Given the description of an element on the screen output the (x, y) to click on. 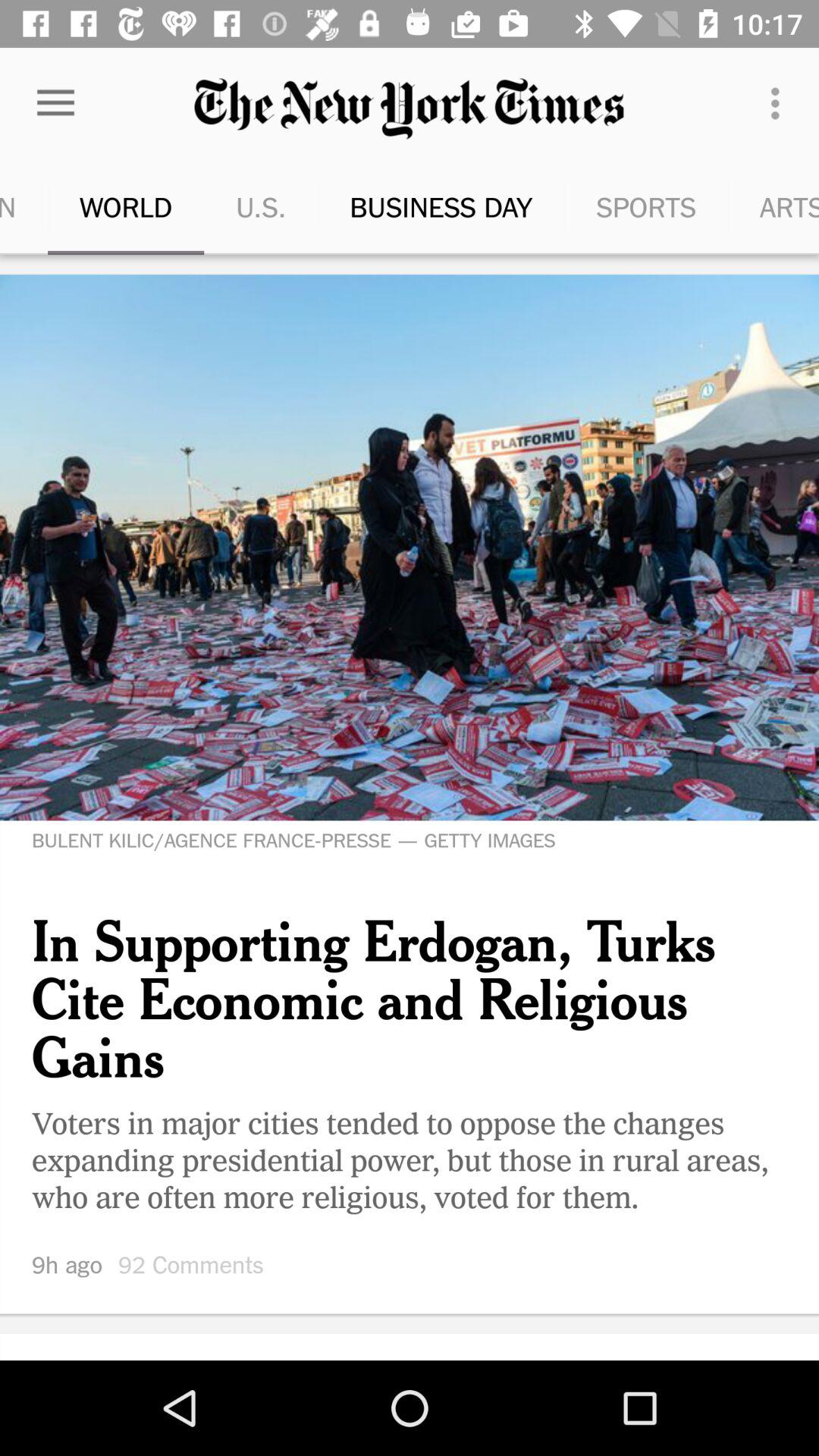
jump to the arts icon (753, 206)
